Given the description of an element on the screen output the (x, y) to click on. 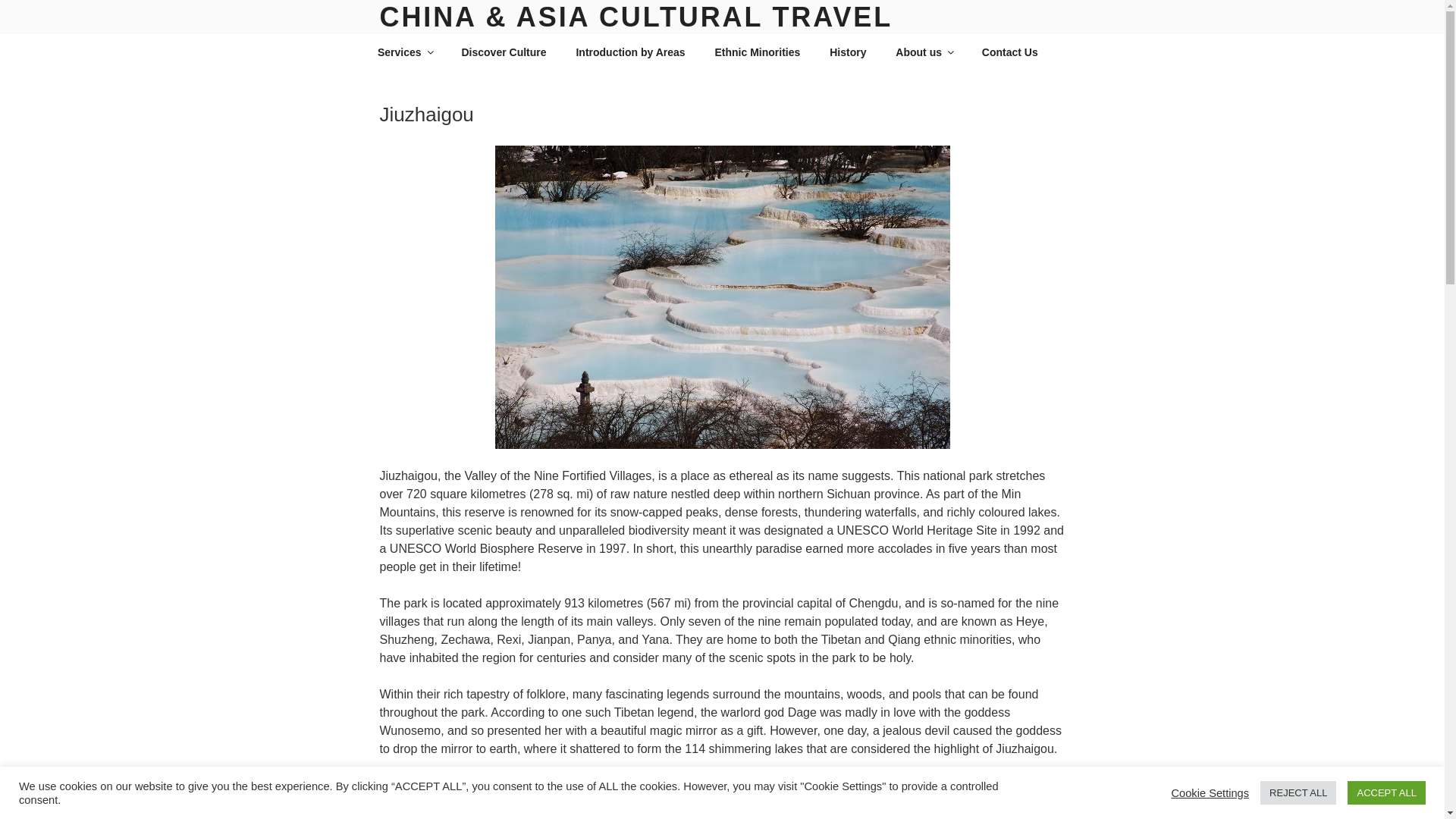
Cookie Settings (1209, 792)
About us (924, 52)
REJECT ALL (1298, 792)
Contact Us (1009, 52)
Discover Culture (503, 52)
Ethnic Minorities (757, 52)
ACCEPT ALL (1386, 792)
Services (404, 52)
Introduction by Areas (630, 52)
History (847, 52)
